Given the description of an element on the screen output the (x, y) to click on. 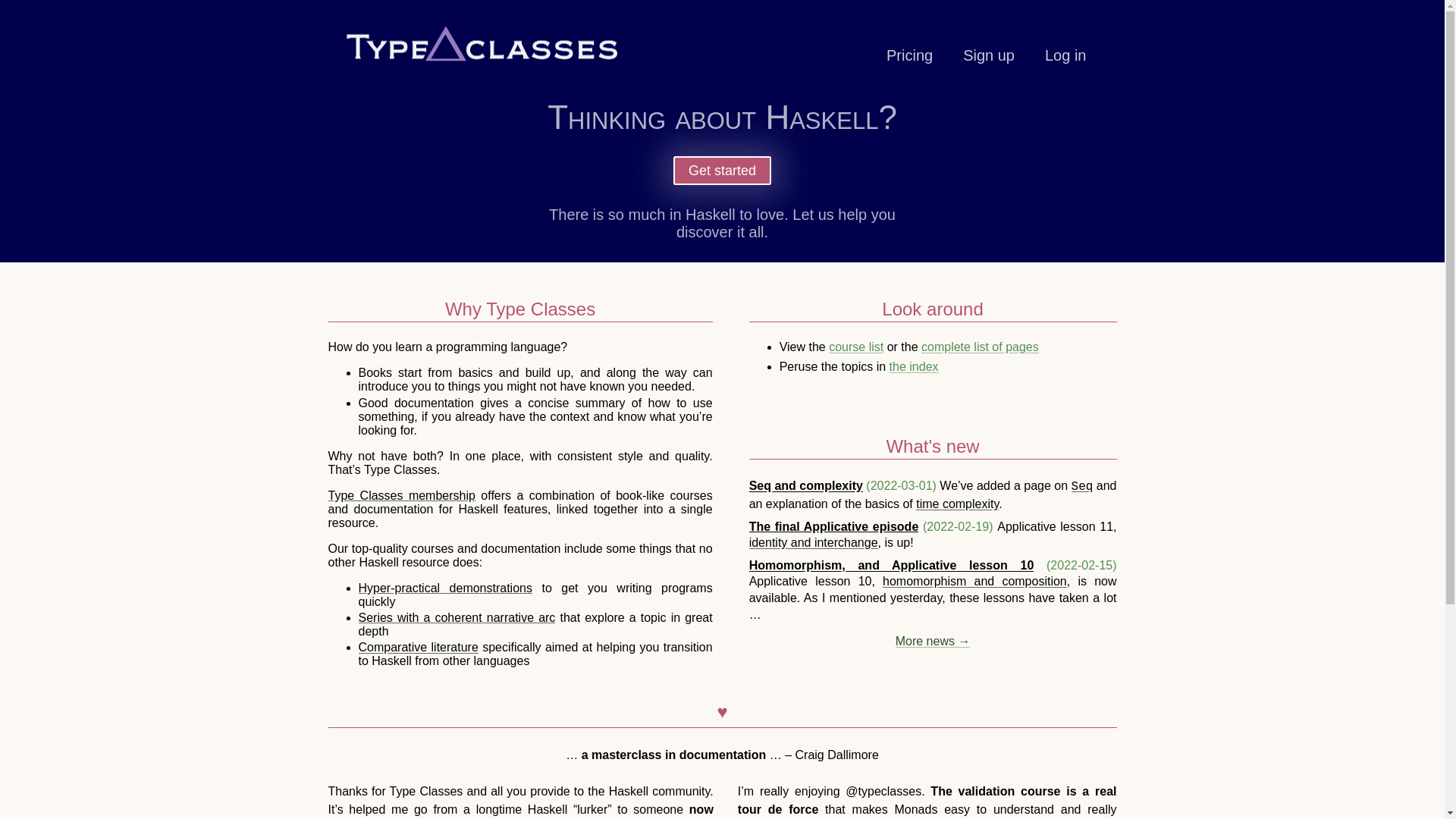
identity and interchange (813, 542)
Seq and complexity (806, 485)
Comparative literature (417, 646)
Series with a coherent narrative arc (456, 617)
Sign up (988, 54)
Get started (721, 170)
Seq (1082, 485)
Homomorphism, and Applicative lesson 10 (891, 564)
Pricing (909, 54)
Type Classes membership (400, 495)
The final Applicative episode (833, 526)
the index (914, 366)
Hyper-practical demonstrations (444, 587)
time complexity (956, 503)
homomorphism and composition (974, 581)
